Given the description of an element on the screen output the (x, y) to click on. 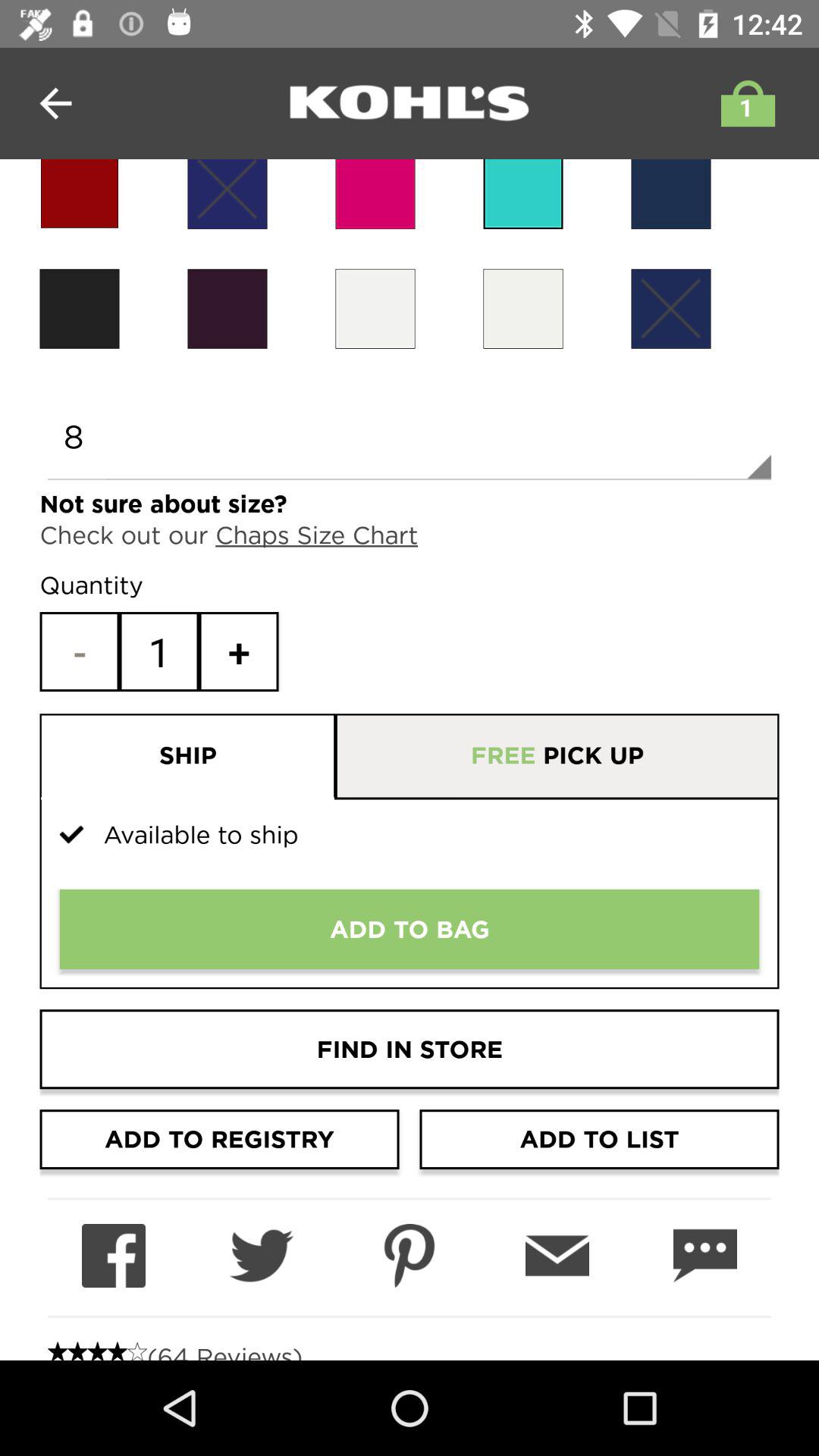
choose color (523, 308)
